Given the description of an element on the screen output the (x, y) to click on. 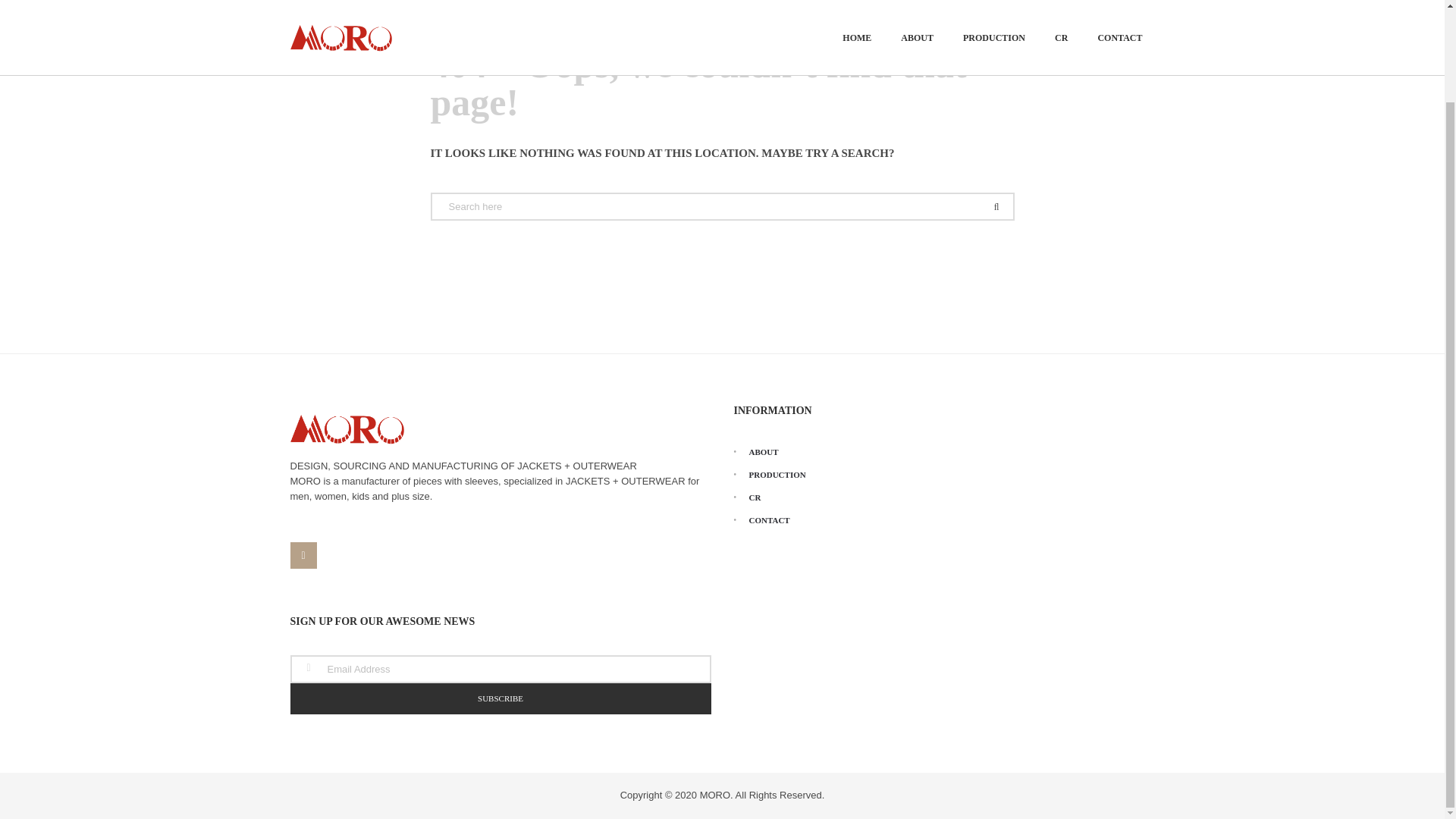
Subscribe (499, 698)
CR (747, 497)
Subscribe (499, 698)
PRODUCTION (769, 474)
ABOUT (755, 453)
CONTACT (761, 519)
